Given the description of an element on the screen output the (x, y) to click on. 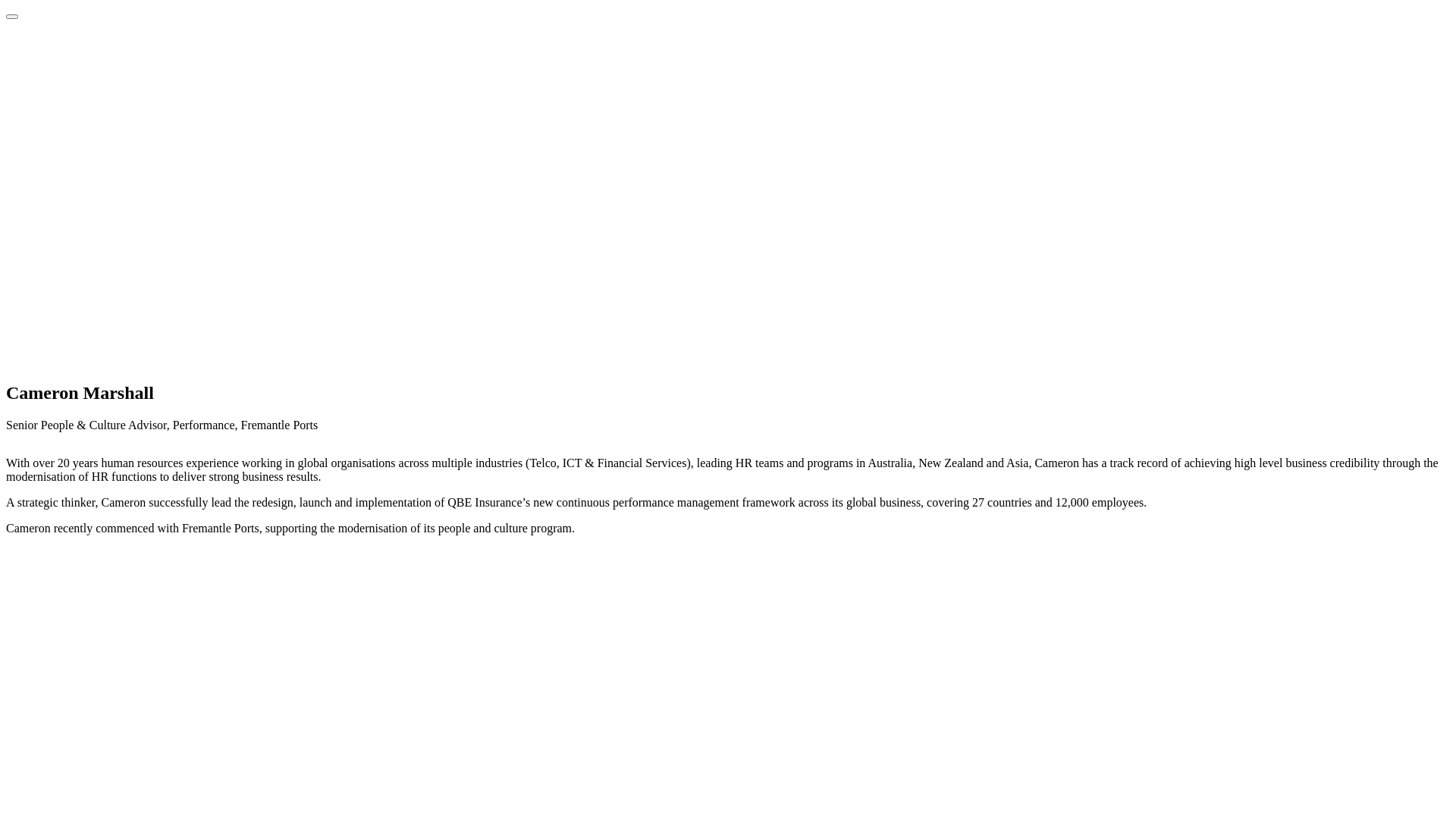
Close (Esc) Element type: hover (12, 16)
